Given the description of an element on the screen output the (x, y) to click on. 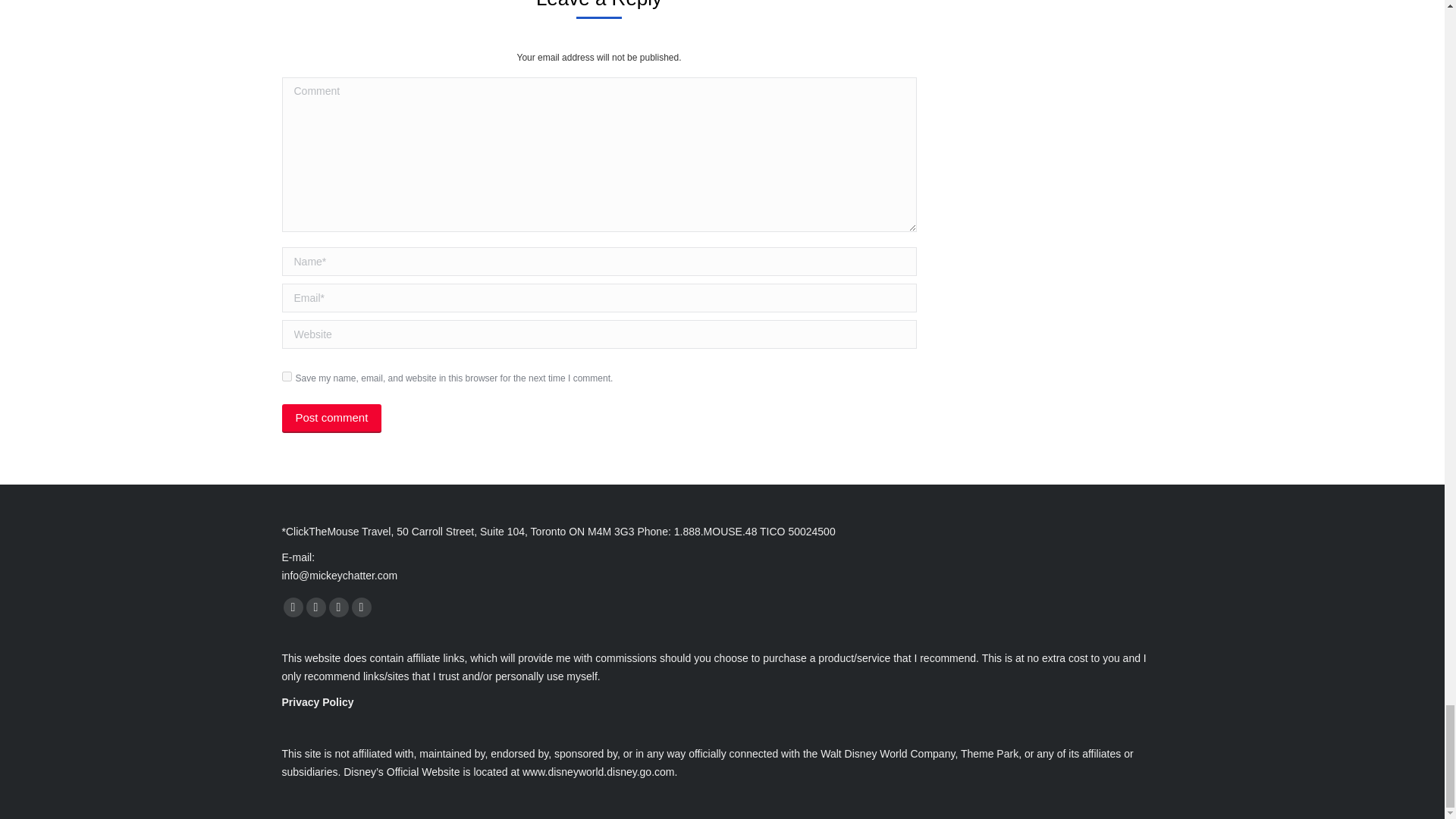
yes (287, 376)
